Given the description of an element on the screen output the (x, y) to click on. 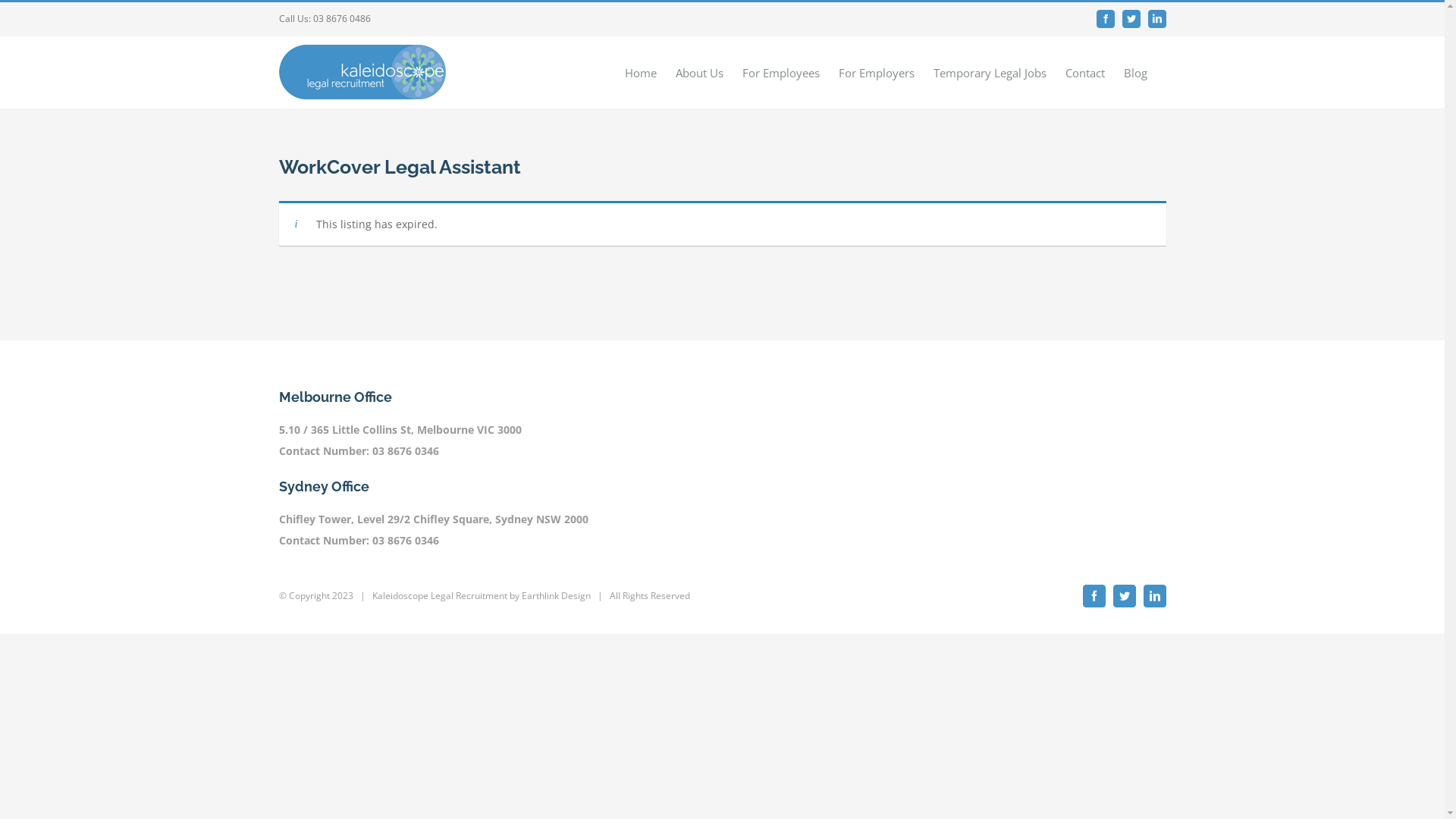
LinkedIn Element type: text (1154, 595)
For Employers Element type: text (876, 72)
03 8676 0486 Element type: text (341, 18)
Facebook Element type: text (1093, 595)
About Us Element type: text (698, 72)
Earthlink Design Element type: text (555, 595)
Contact Element type: text (1084, 72)
03 8676 0346 Element type: text (404, 540)
Temporary Legal Jobs Element type: text (988, 72)
Blog Element type: text (1135, 72)
Twitter Element type: text (1131, 18)
Home Element type: text (640, 72)
03 8676 0346 Element type: text (404, 450)
LinkedIn Element type: text (1157, 18)
Twitter Element type: text (1124, 595)
Facebook Element type: text (1105, 18)
For Employees Element type: text (780, 72)
